Given the description of an element on the screen output the (x, y) to click on. 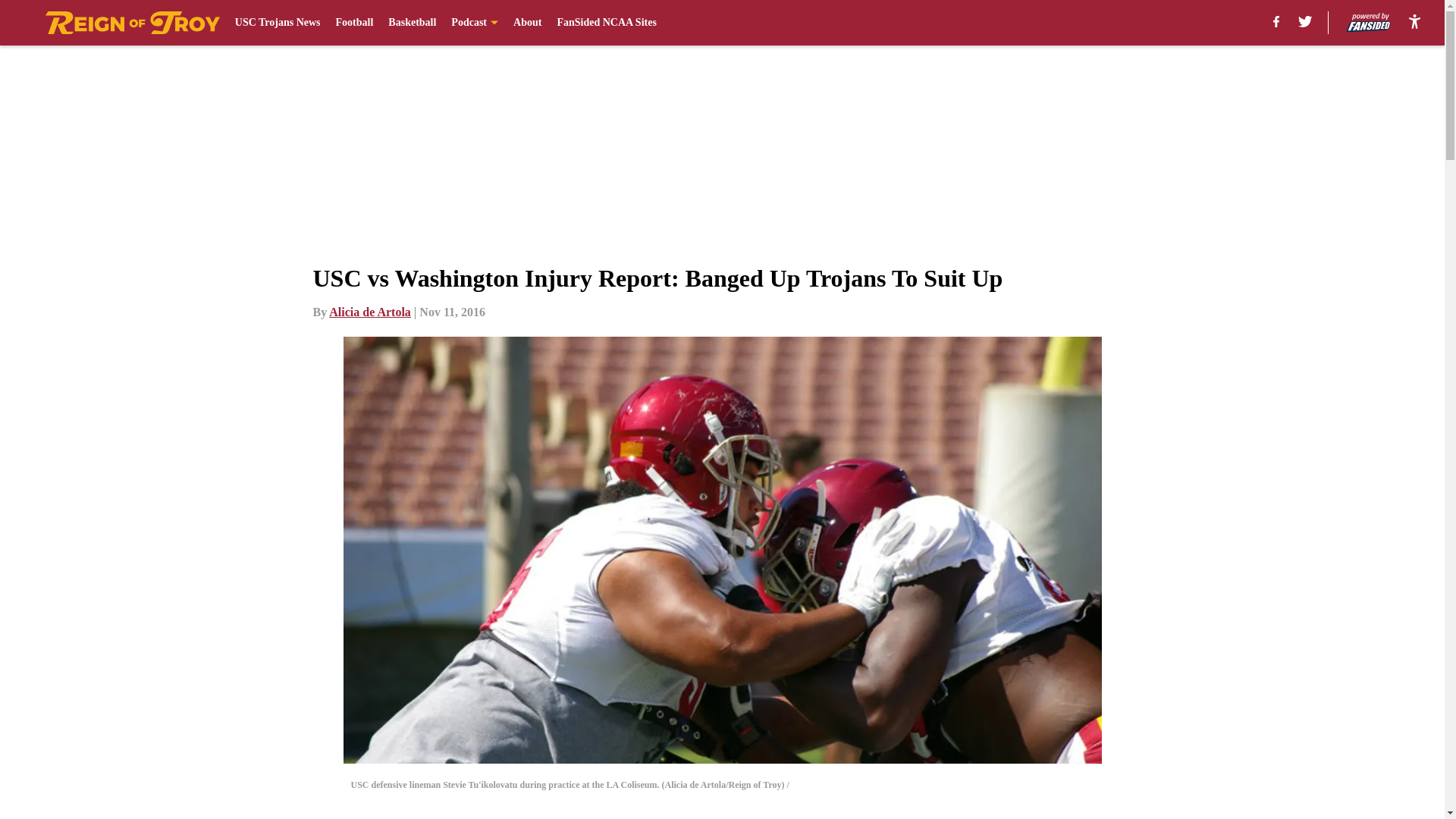
Basketball (411, 22)
USC Trojans News (277, 22)
Football (355, 22)
About (527, 22)
Alicia de Artola (369, 311)
Podcast (474, 22)
FanSided NCAA Sites (606, 22)
